Given the description of an element on the screen output the (x, y) to click on. 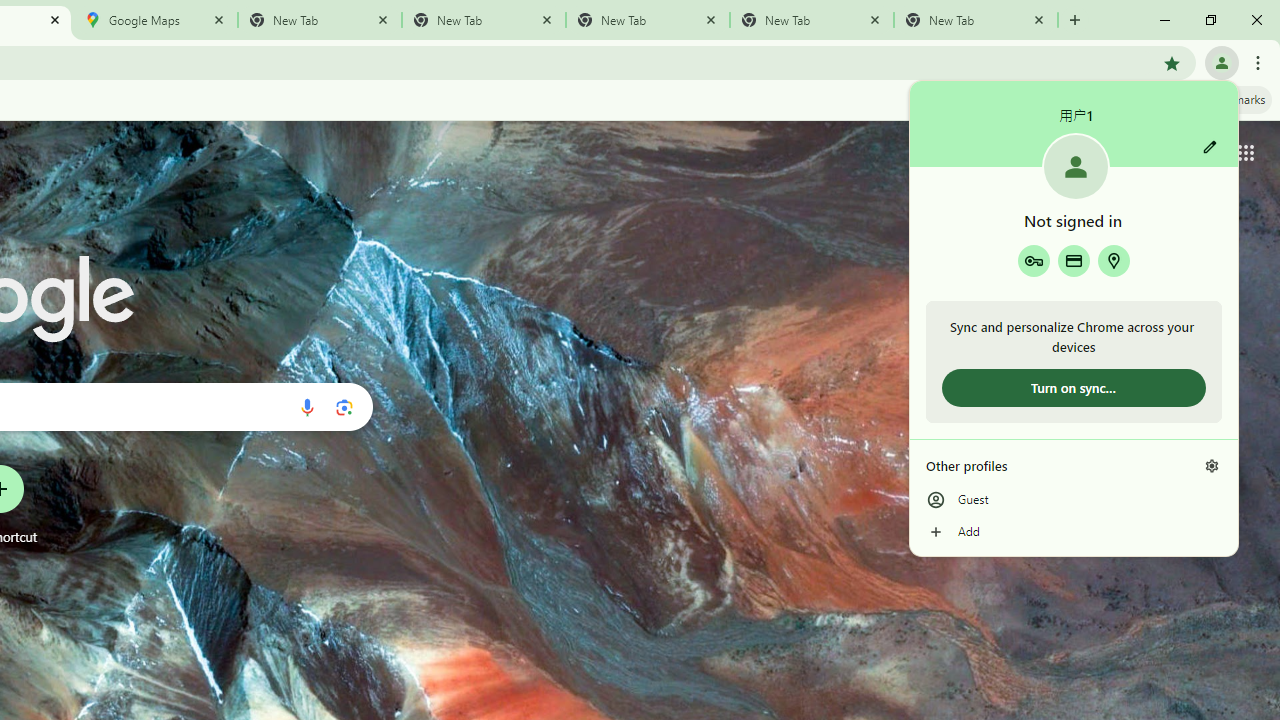
Customize profile (1210, 147)
Google Maps (156, 20)
Guest (1073, 499)
Addresses and more (1114, 260)
Search by image (344, 407)
New Tab (975, 20)
Google Password Manager (1033, 260)
Search by voice (307, 407)
Manage profiles (1211, 465)
